Given the description of an element on the screen output the (x, y) to click on. 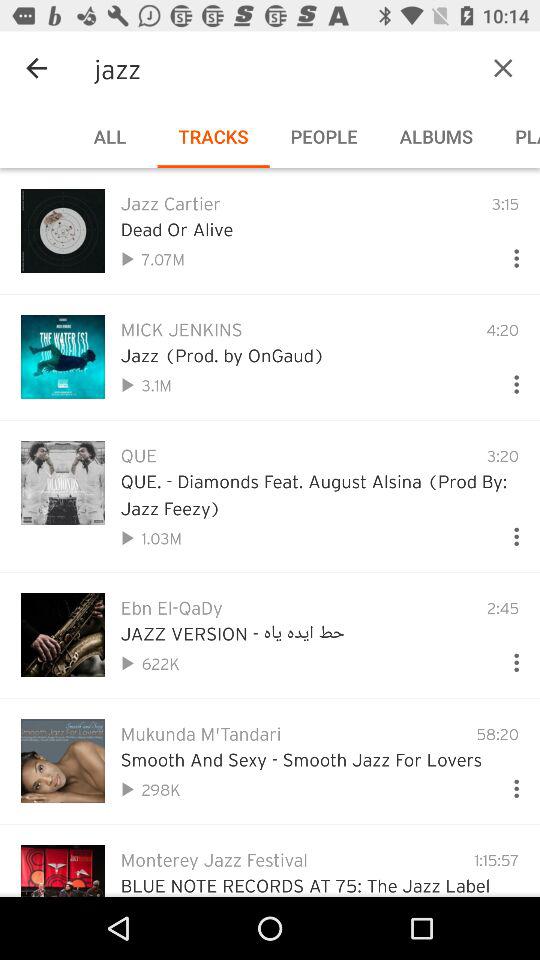
get more options (508, 380)
